Given the description of an element on the screen output the (x, y) to click on. 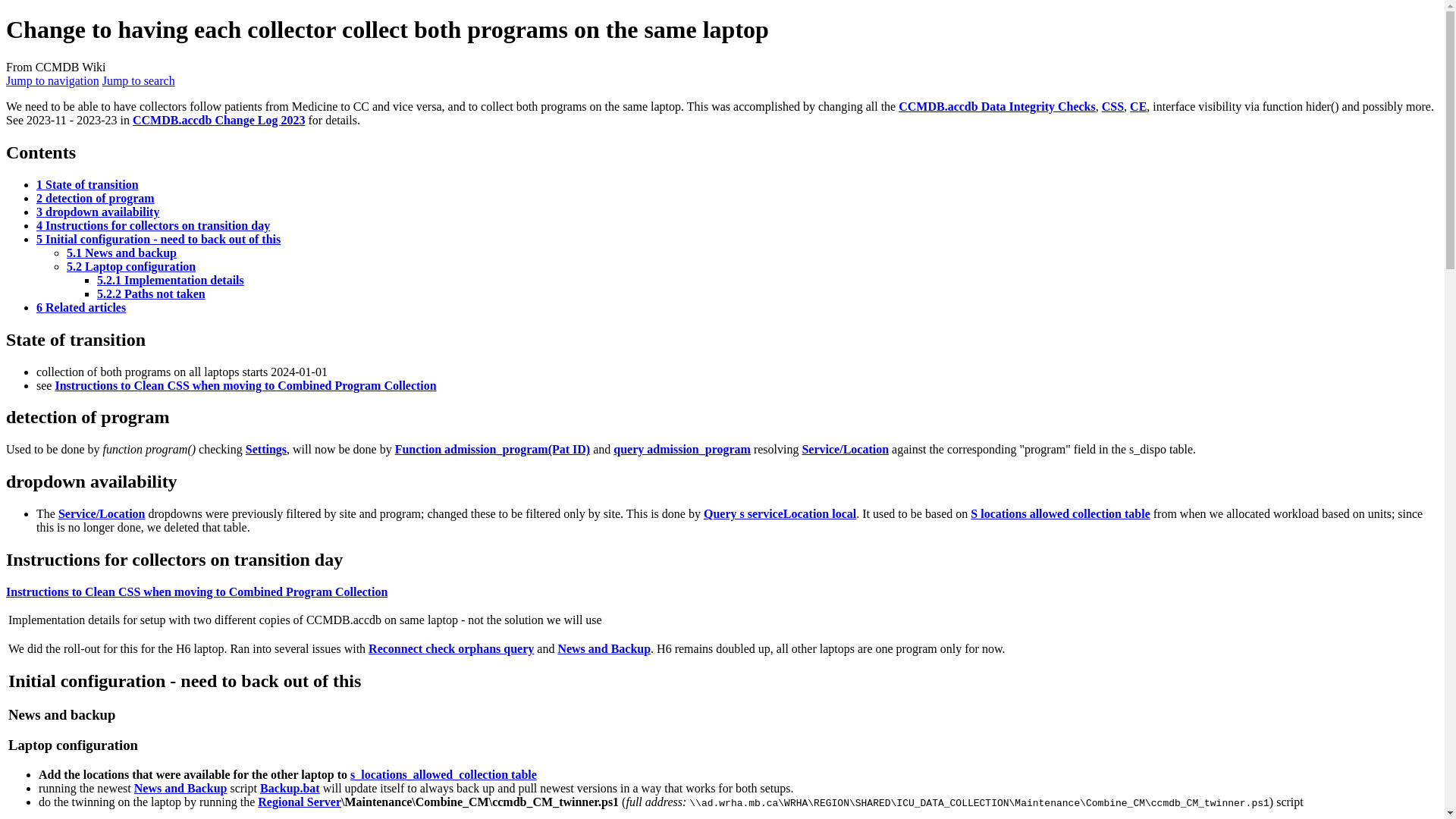
CCMDB.accdb Data Integrity Checks (997, 106)
CCMDB.accdb Change Log 2023 (218, 119)
Reconnect check orphans query (451, 648)
5.2 Laptop configuration (130, 266)
2 detection of program (95, 197)
5.2.1 Implementation details (170, 279)
CSS (1113, 106)
5.1 News and backup (121, 252)
Query s serviceLocation local (779, 513)
News and Backup (603, 648)
Jump to search (137, 80)
CCMDB.accdb Data Integrity Checks (997, 106)
3 dropdown availability (97, 211)
